Given the description of an element on the screen output the (x, y) to click on. 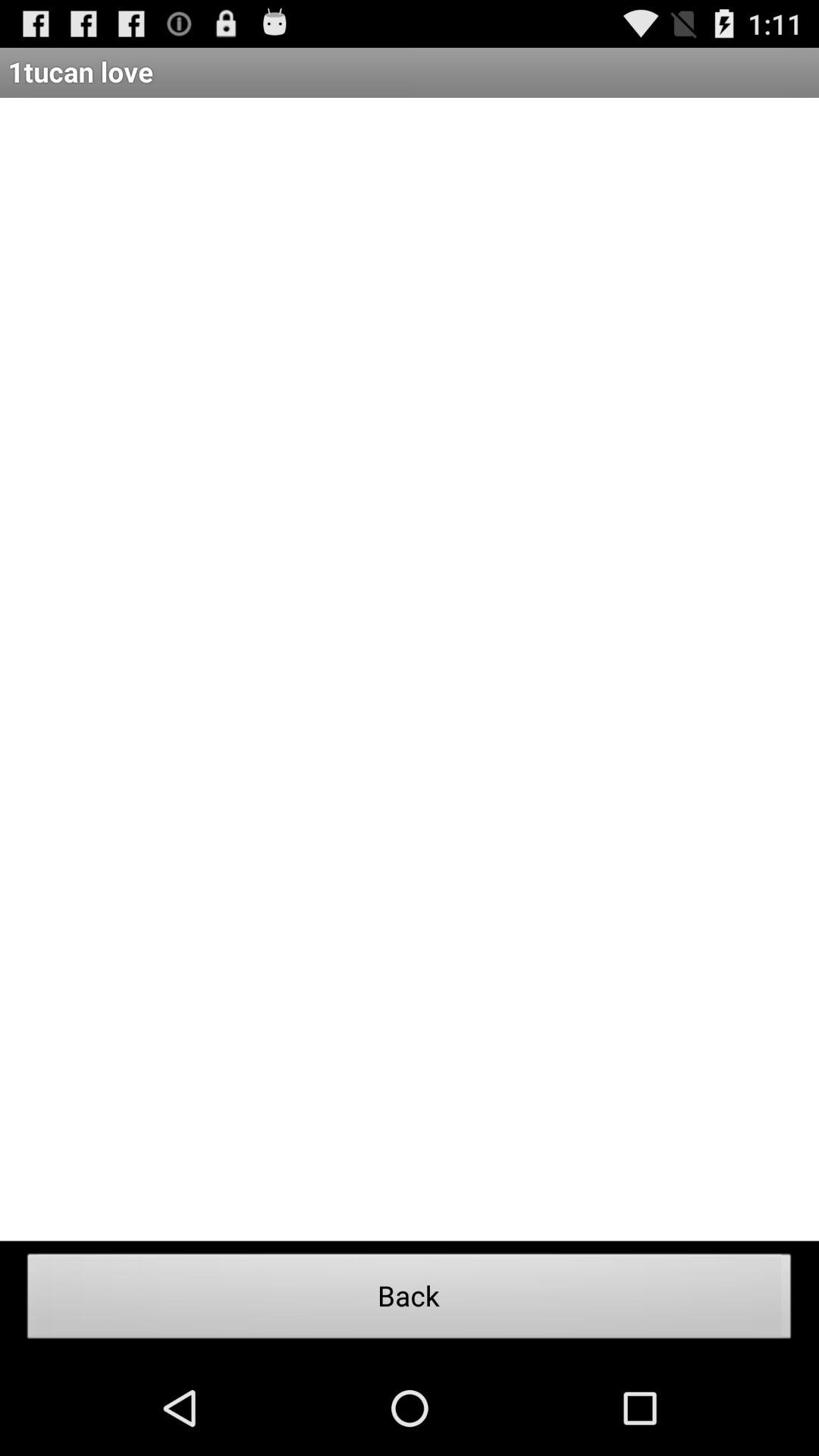
click item at the bottom (409, 1300)
